Given the description of an element on the screen output the (x, y) to click on. 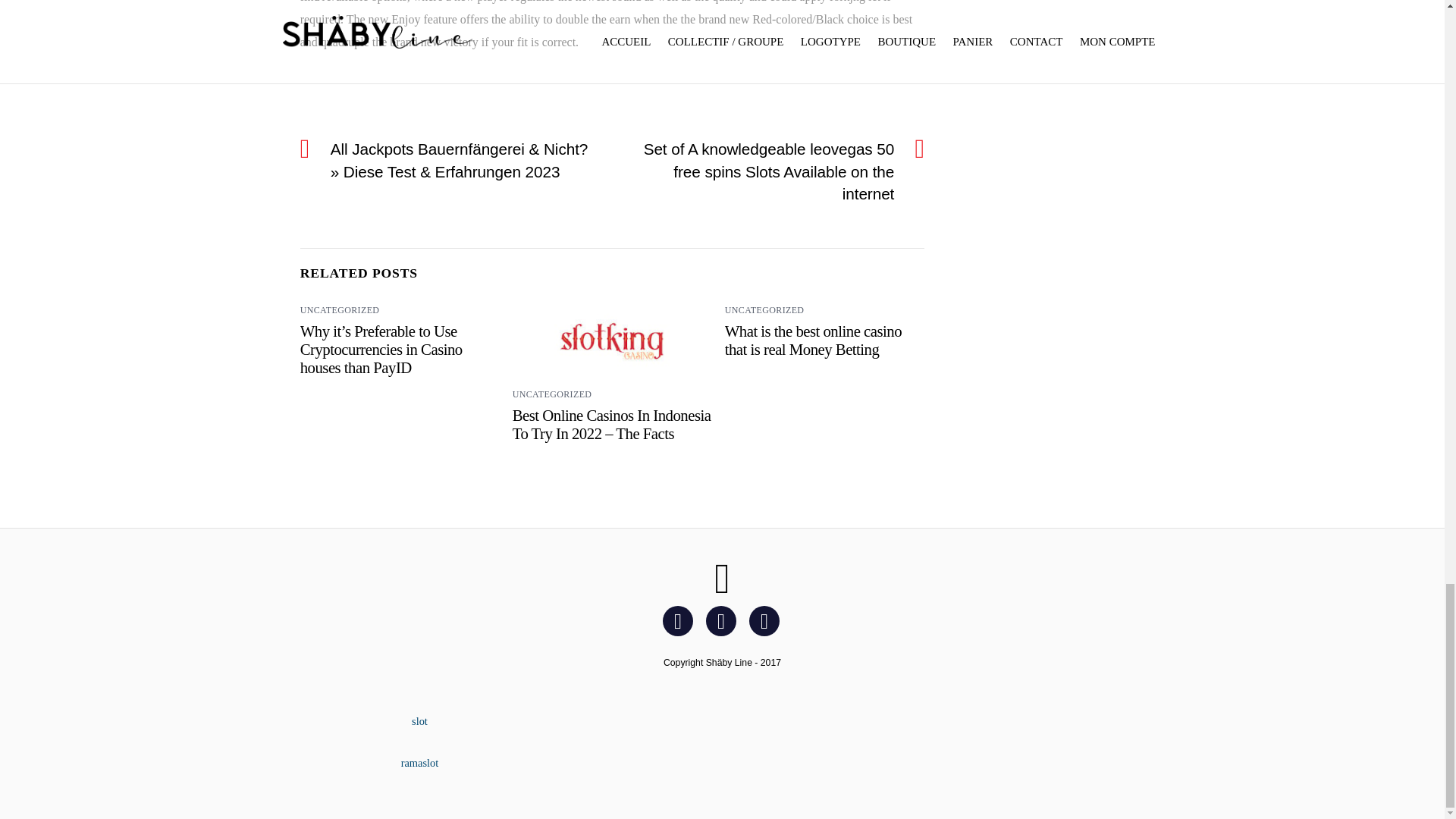
UNCATEGORIZED (552, 394)
Facebook (680, 620)
What is the best online casino that is real Money Betting (813, 339)
Instagram (723, 620)
YouTube (766, 620)
UNCATEGORIZED (765, 309)
UNCATEGORIZED (339, 309)
slot (420, 720)
ramaslot (420, 762)
